Given the description of an element on the screen output the (x, y) to click on. 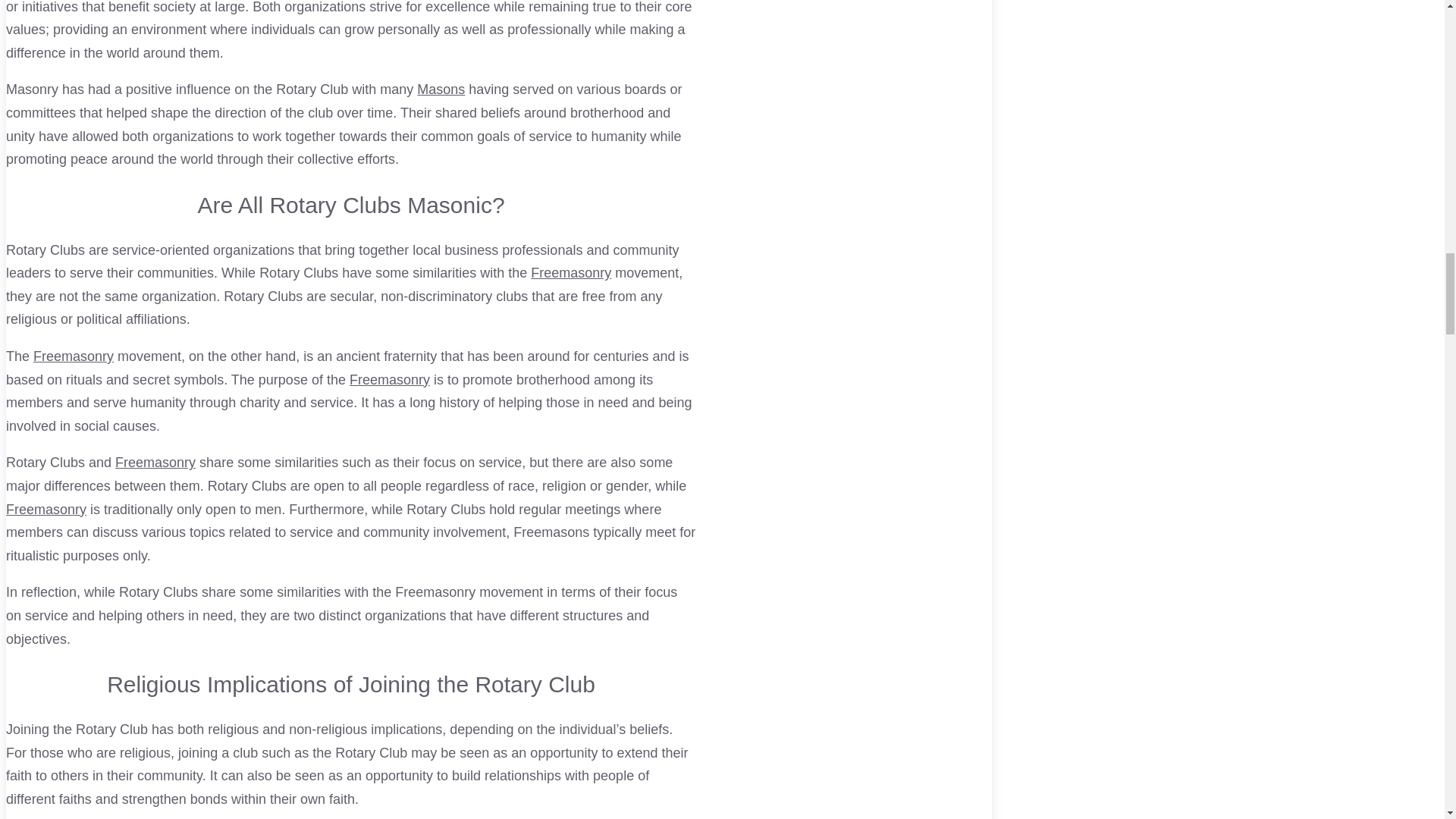
Freemasonry (389, 379)
Freemasonry (45, 509)
Freemasonry (73, 355)
Masons (440, 89)
Freemasonry (155, 462)
Freemasonry (571, 272)
Freemasonry (155, 462)
Freemasonry (45, 509)
